Given the description of an element on the screen output the (x, y) to click on. 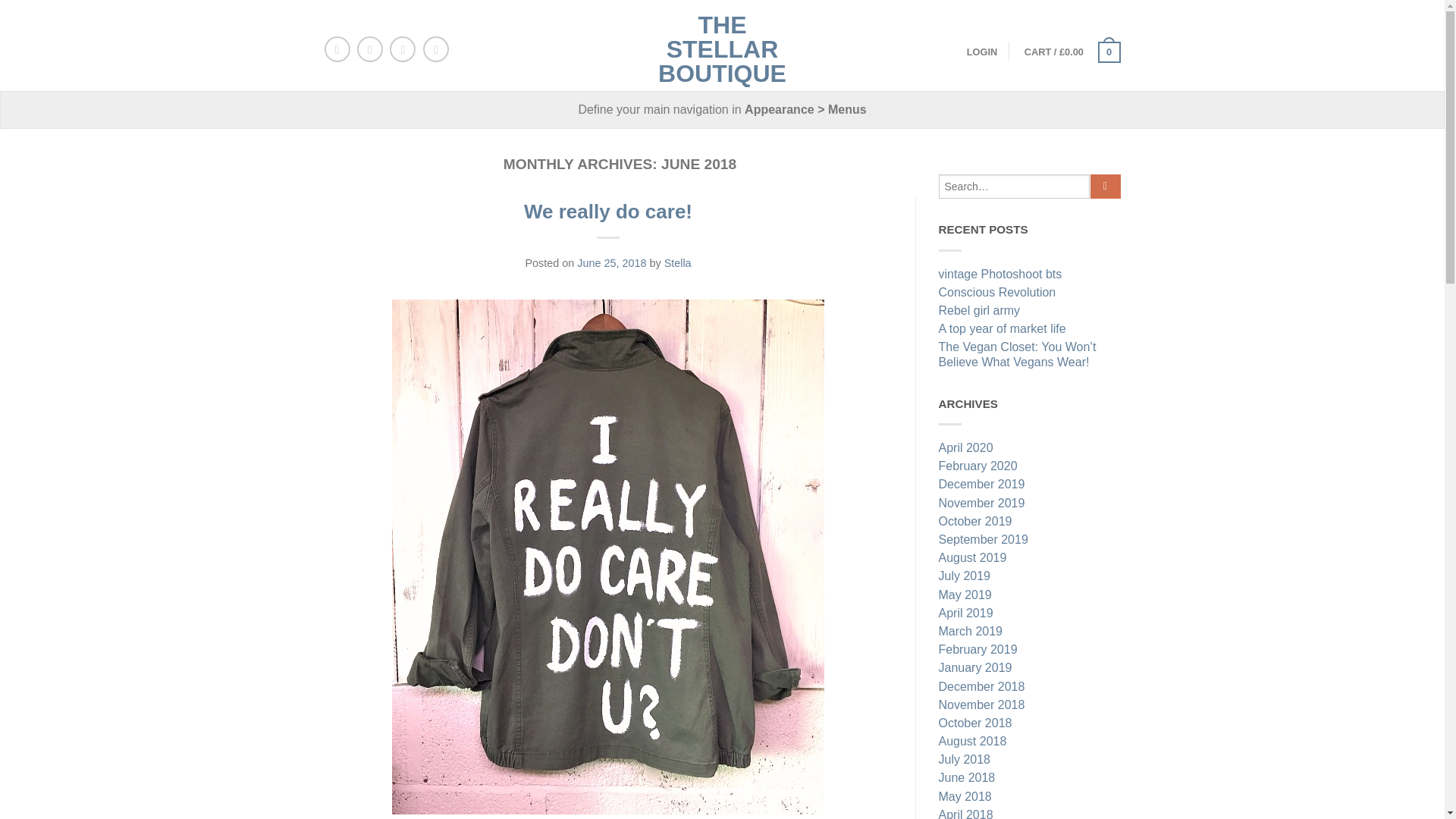
Rebel girl army (1030, 312)
September 2019 (1030, 541)
July 2019 (1030, 577)
Conscious Revolution (1030, 294)
A top year of market life (1030, 330)
February 2020 (1030, 467)
LOGIN (981, 51)
October 2019 (1030, 523)
November 2019 (1030, 505)
June 25, 2018 (611, 263)
April 2020 (1030, 449)
Stella (677, 263)
We really do care! (608, 210)
August 2019 (1030, 559)
THE STELLAR BOUTIQUE (722, 44)
